Given the description of an element on the screen output the (x, y) to click on. 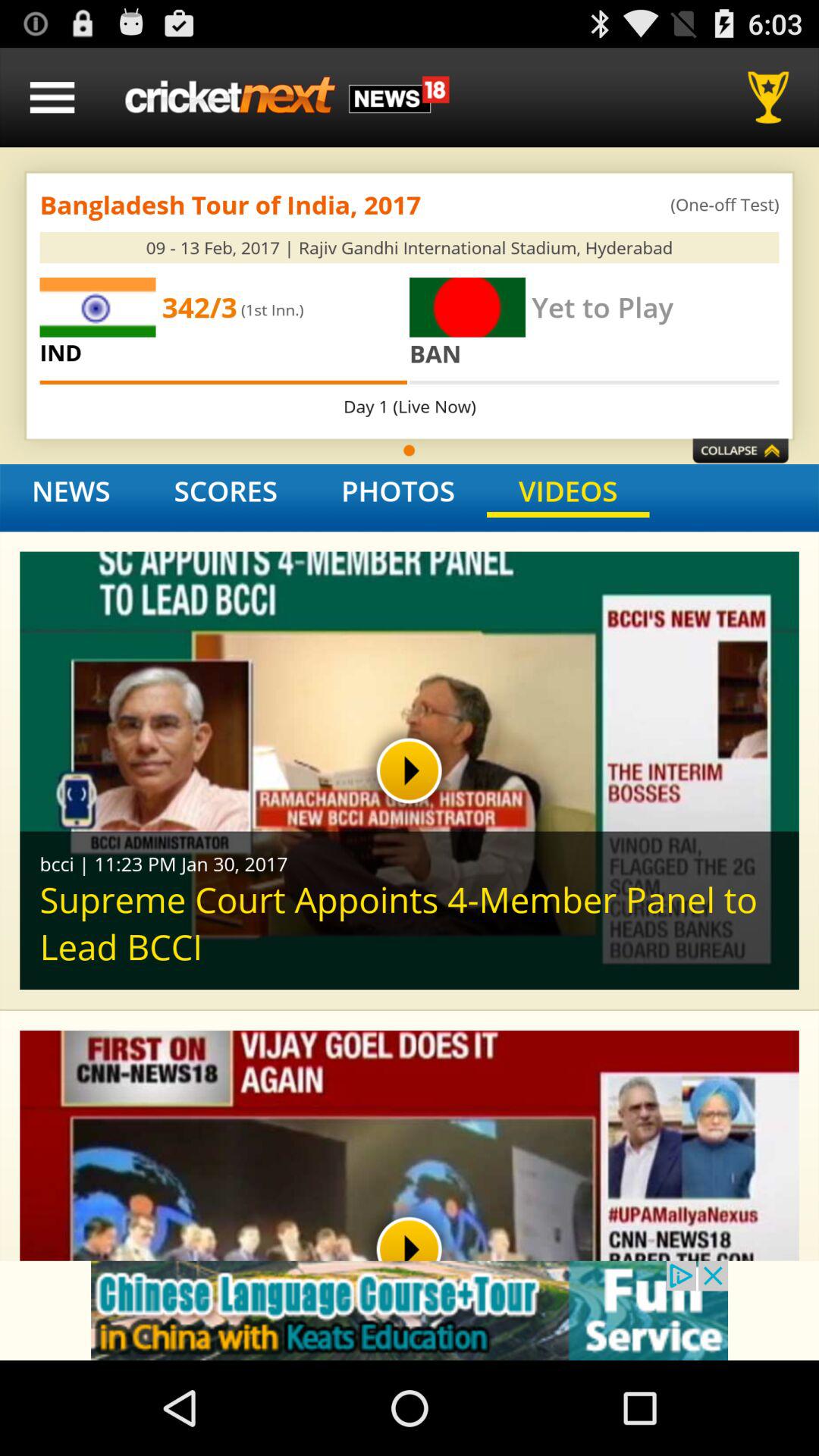
advertisement (409, 1310)
